Given the description of an element on the screen output the (x, y) to click on. 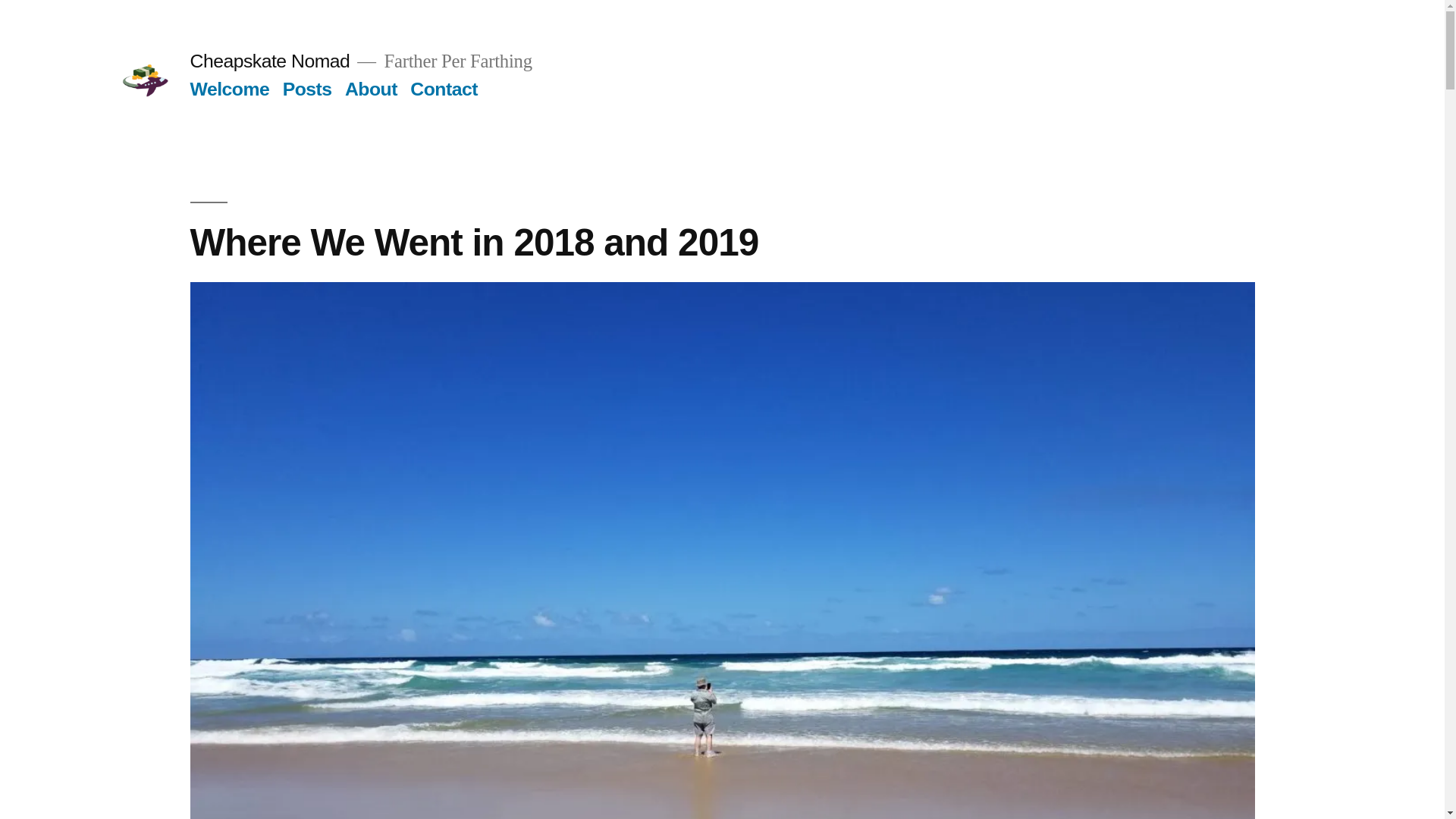
Contact (443, 88)
Cheapskate Nomad (269, 60)
Welcome (229, 88)
Posts (306, 88)
Where We Went in 2018 and 2019 (473, 241)
About (371, 88)
